Given the description of an element on the screen output the (x, y) to click on. 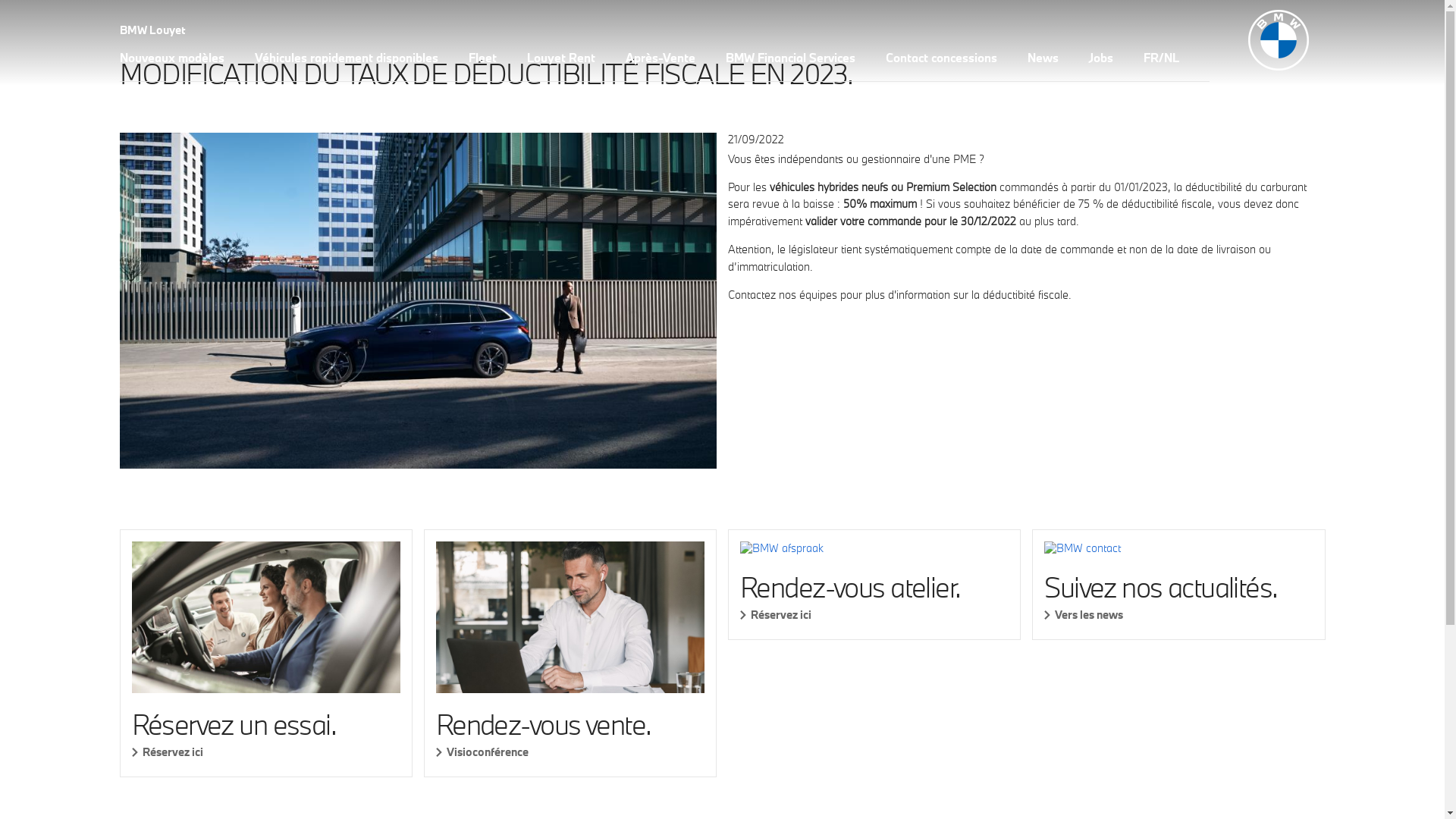
FR/NL Element type: text (1161, 63)
Skip to main content Element type: text (0, 0)
BMW Financial Services Element type: text (789, 63)
Jobs Element type: text (1100, 63)
Vers les news Element type: text (1178, 614)
Contact concessions Element type: text (941, 63)
News Element type: text (1041, 63)
Fleet Element type: text (482, 63)
BMW Louyet Element type: text (152, 31)
Louyet Rent Element type: text (560, 63)
